Given the description of an element on the screen output the (x, y) to click on. 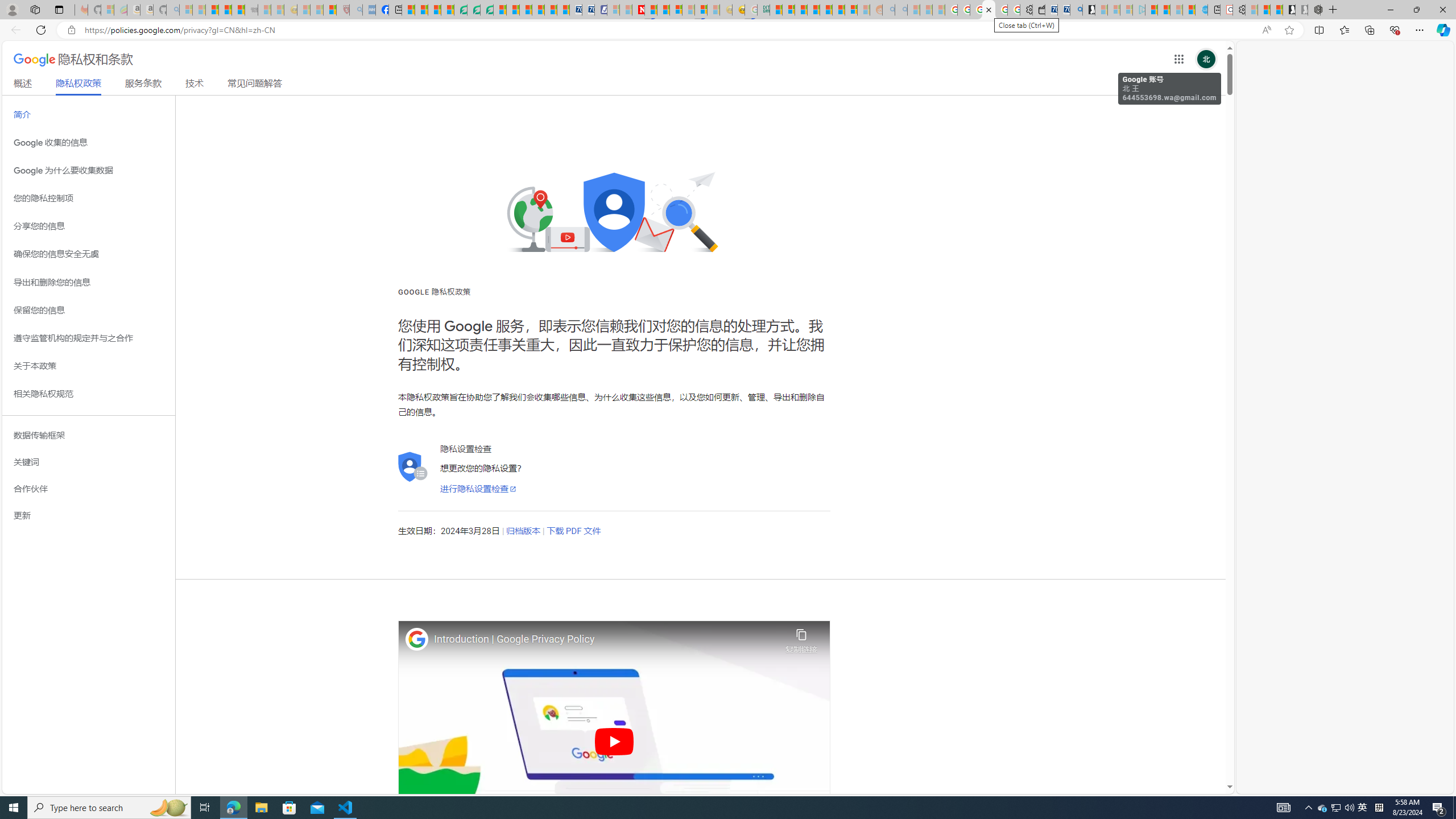
Latest Politics News & Archive | Newsweek.com (638, 9)
